Given the description of an element on the screen output the (x, y) to click on. 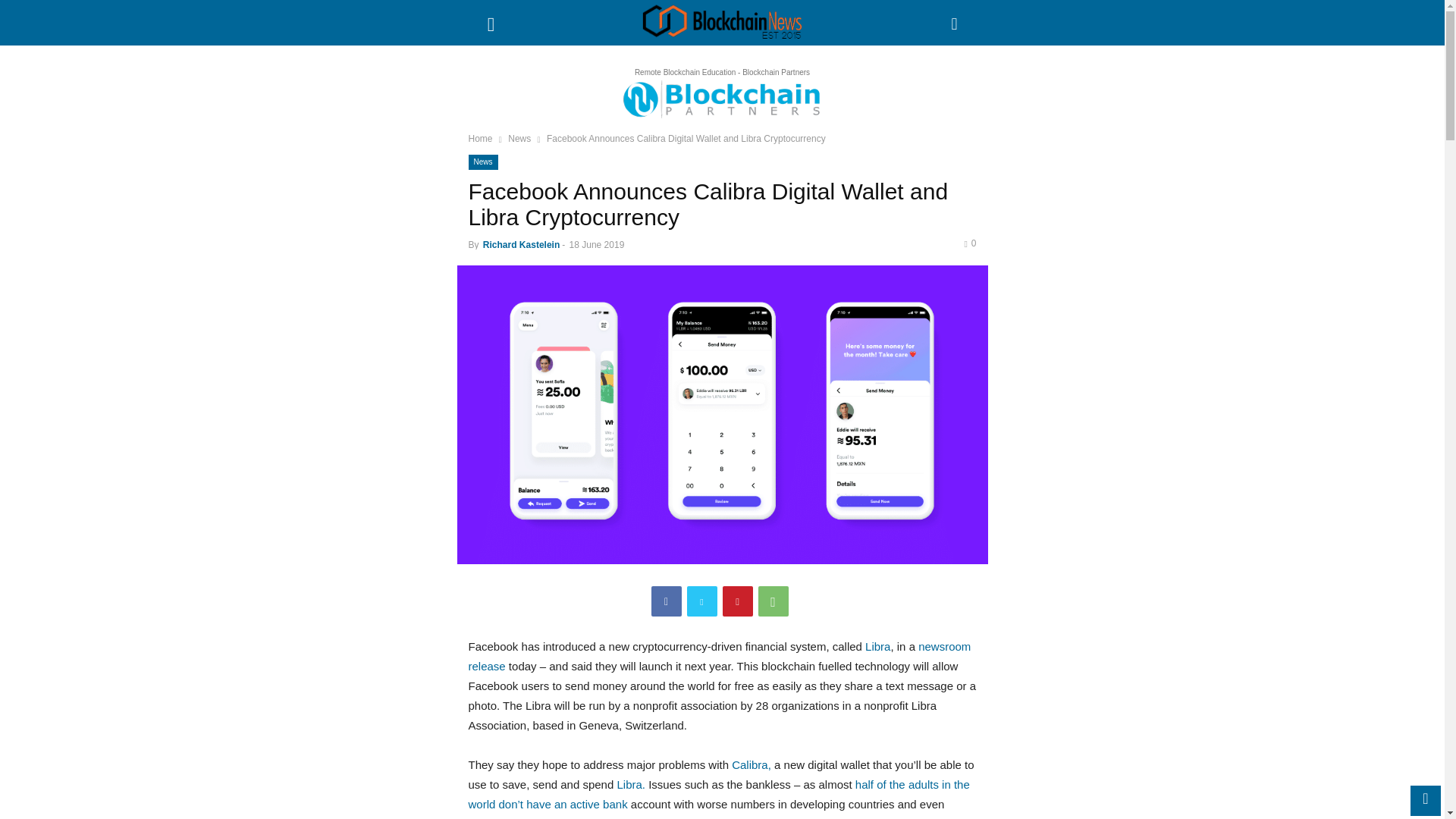
WhatsApp (773, 601)
News (482, 161)
Twitter (702, 601)
Calibra, (751, 764)
Pinterest (737, 601)
View all posts in News (519, 138)
newsroom release (719, 655)
Richard Kastelein (521, 244)
Facebook (665, 601)
